Given the description of an element on the screen output the (x, y) to click on. 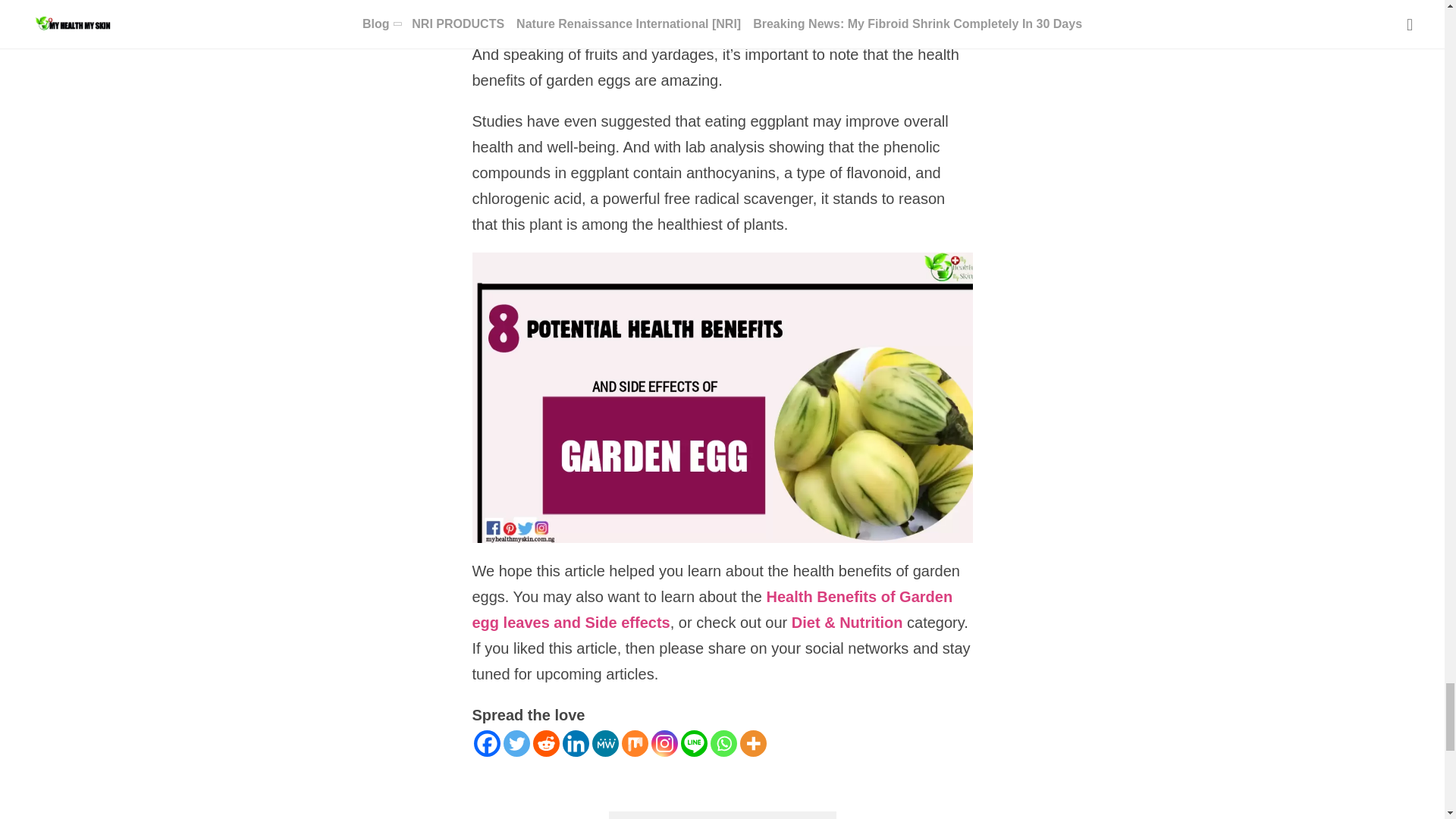
Linkedin (575, 743)
Twitter (516, 743)
Instagram (663, 743)
Reddit (545, 743)
Whatsapp (723, 743)
Mix (634, 743)
Line (694, 743)
Facebook (486, 743)
MeWe (604, 743)
More (753, 743)
